Given the description of an element on the screen output the (x, y) to click on. 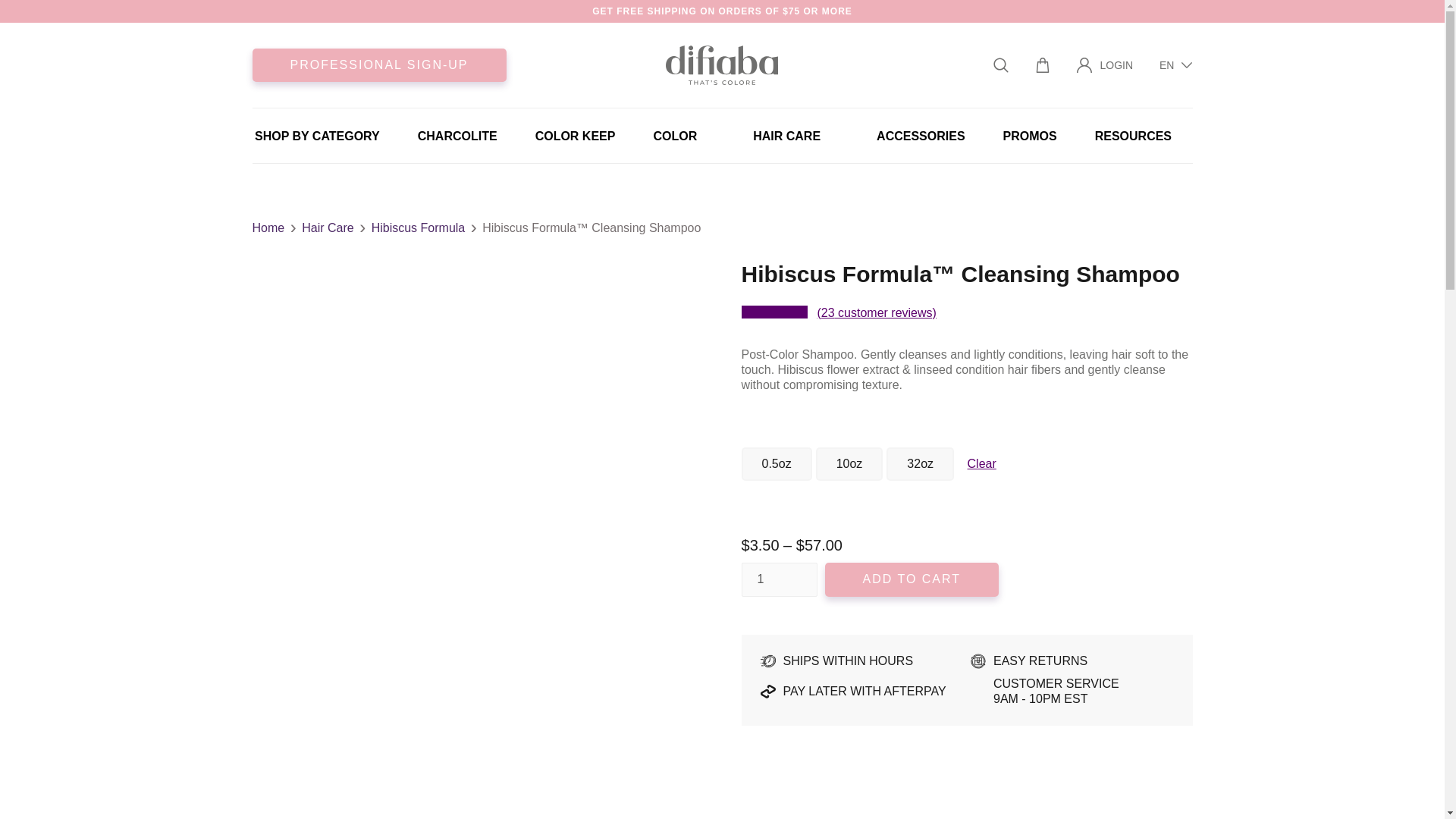
COLOR KEEP (575, 135)
CHARCOLITE (457, 135)
PROMOS (1029, 135)
HAIR CARE (795, 135)
SHOP BY CATEGORY (316, 135)
LOGIN (1104, 64)
PROFESSIONAL SIGN-UP (378, 64)
COLOR (683, 135)
ACCESSORIES (920, 135)
EN (1175, 64)
